Given the description of an element on the screen output the (x, y) to click on. 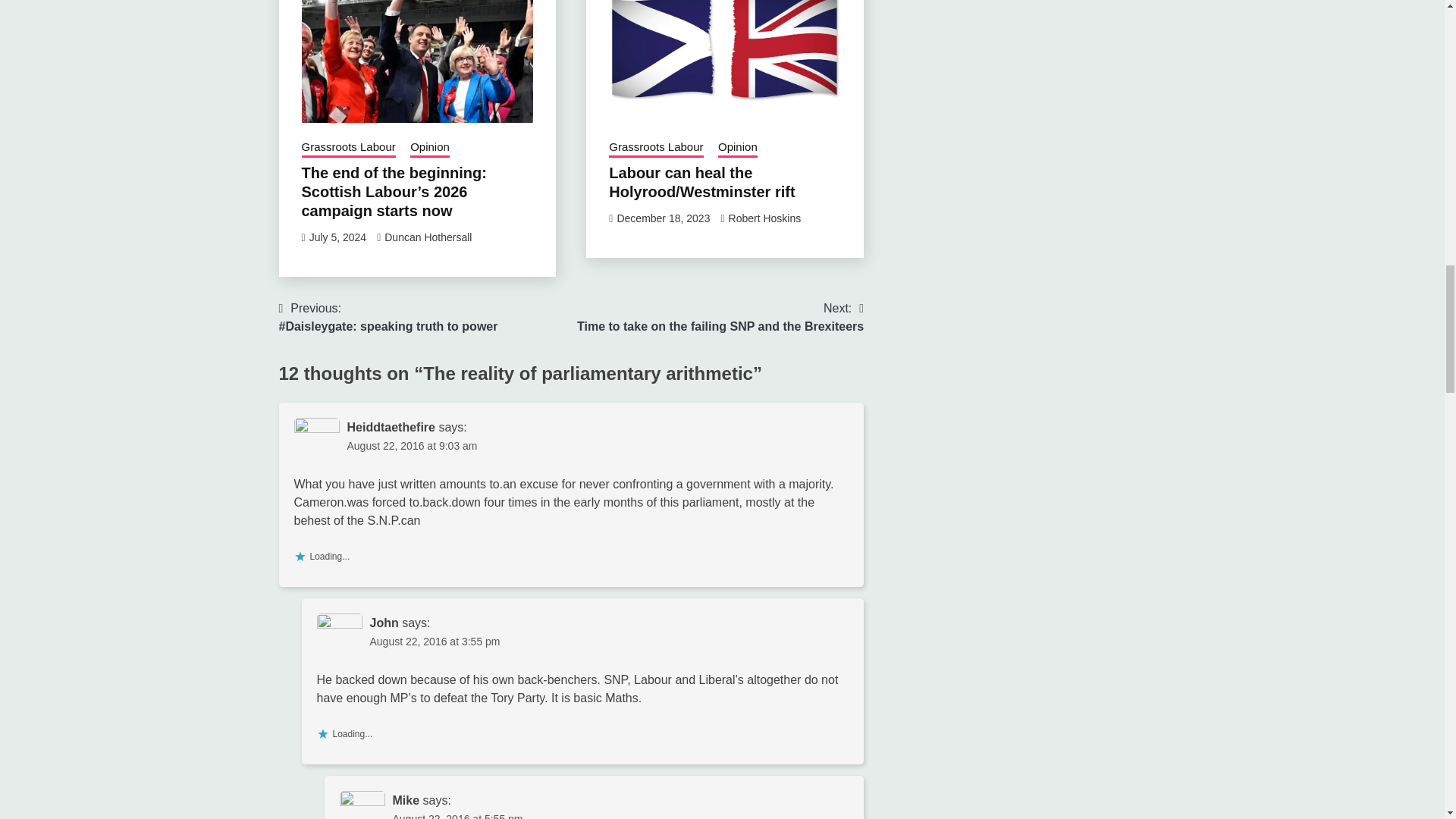
Grassroots Labour (655, 148)
December 18, 2023 (719, 317)
Duncan Hothersall (662, 218)
Opinion (427, 236)
August 22, 2016 at 9:03 am (429, 148)
Grassroots Labour (412, 445)
July 5, 2024 (348, 148)
Robert Hoskins (337, 236)
August 22, 2016 at 3:55 pm (765, 218)
